Given the description of an element on the screen output the (x, y) to click on. 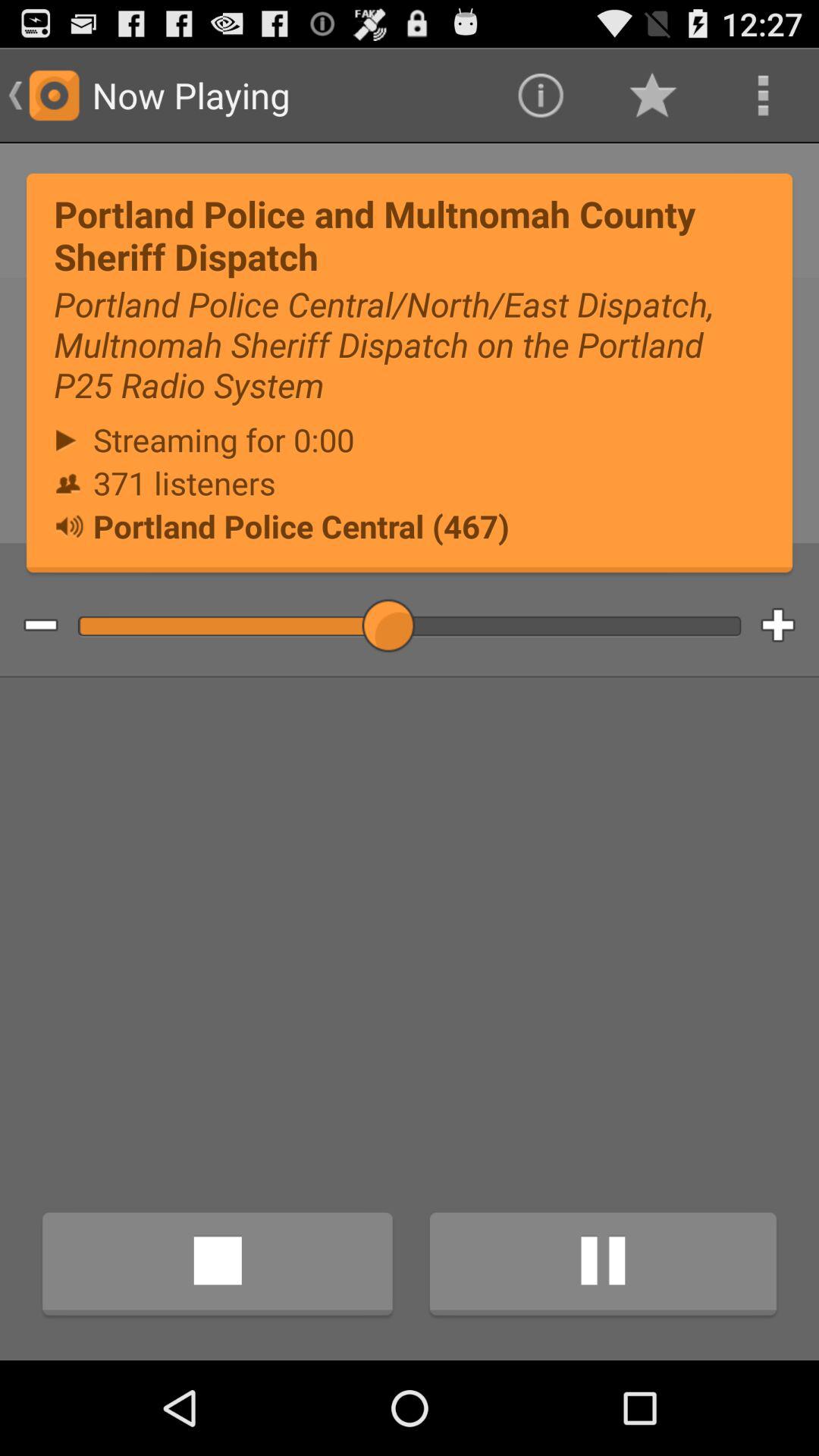
toggle volume up (789, 626)
